Given the description of an element on the screen output the (x, y) to click on. 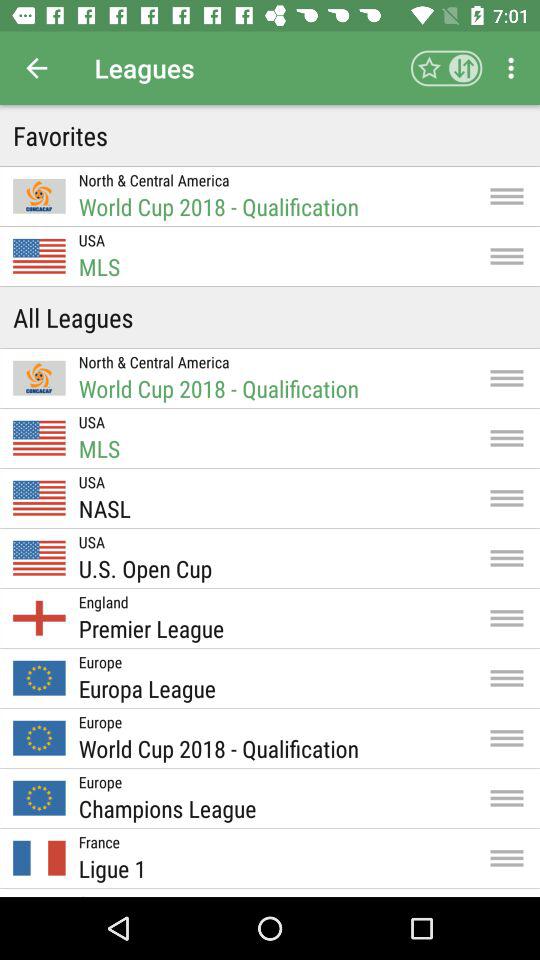
select the menu which is to the right of the world cup 2018  qualification in favorites (506, 196)
icon right to the text us open cup (506, 558)
click on the first image below all leagues (38, 378)
